Given the description of an element on the screen output the (x, y) to click on. 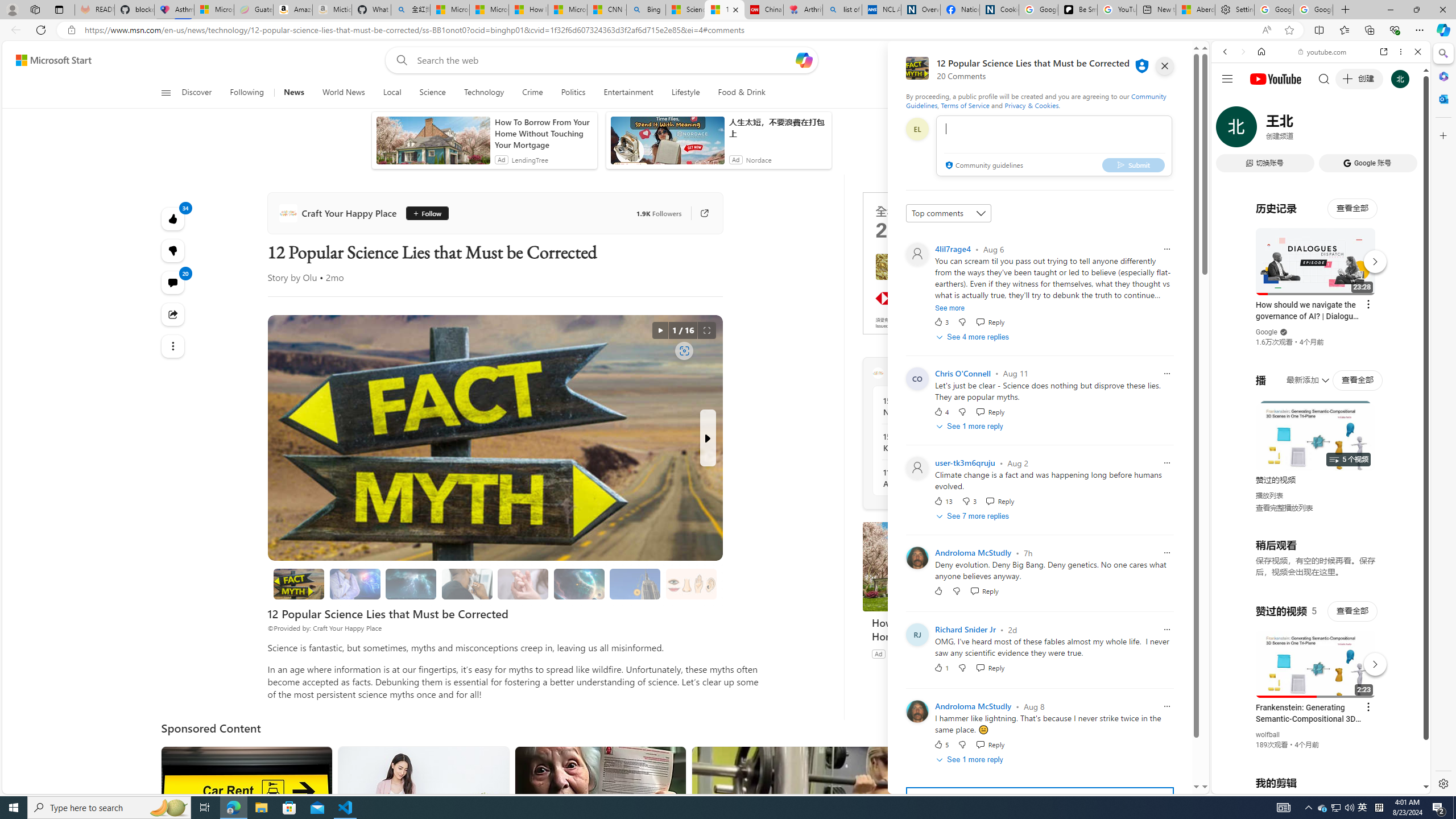
Report comment (1166, 706)
Craft Your Happy Place (877, 372)
View comments 20 Comment (172, 282)
#you (1320, 253)
you (1315, 755)
Reply Reply Comment (990, 744)
Arthritis: Ask Health Professionals (802, 9)
Music (1320, 309)
